Given the description of an element on the screen output the (x, y) to click on. 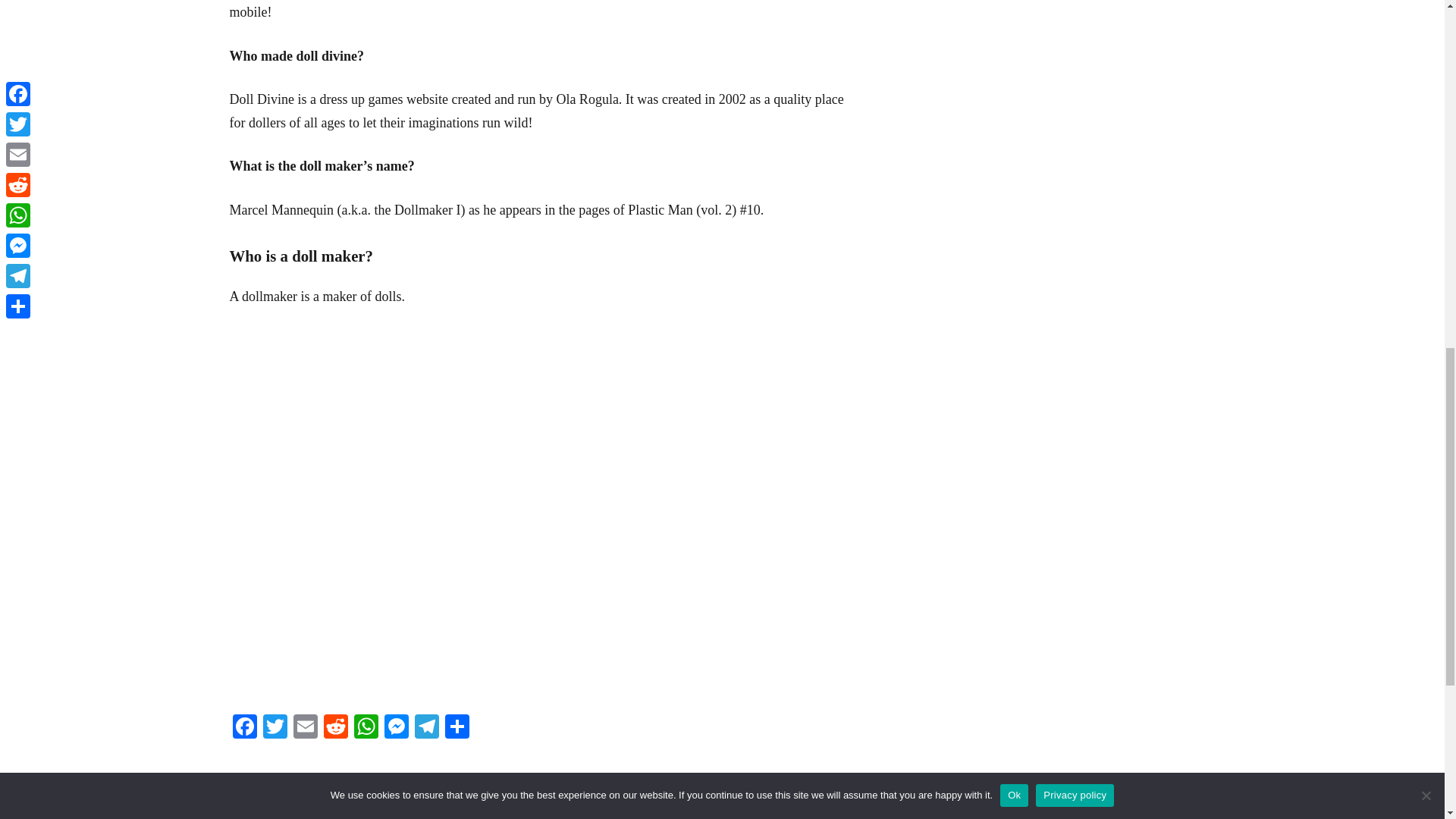
WhatsApp (365, 728)
Share (456, 728)
WhatsApp (365, 728)
Email (304, 728)
Telegram (425, 728)
Twitter (274, 728)
Email (304, 728)
Facebook (243, 728)
Messenger (382, 812)
Telegram (395, 728)
Facebook (425, 728)
Doll Divine The 4 Elements (243, 728)
Reddit (274, 728)
